Given the description of an element on the screen output the (x, y) to click on. 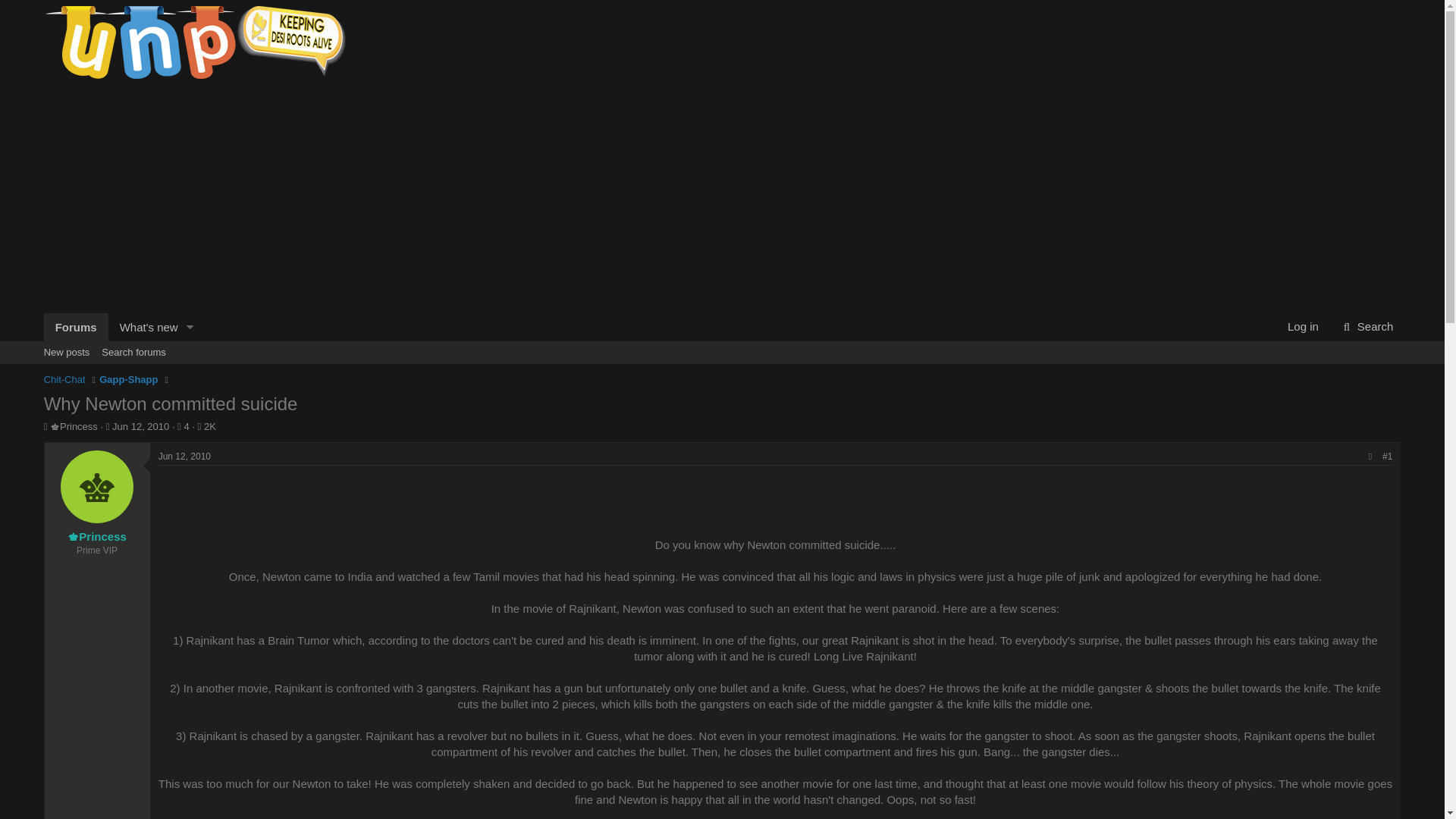
Jun 12, 2010 (184, 456)
What's new (143, 326)
Jun 12, 2010 at 11:36 AM (184, 456)
Search (722, 369)
Views (1366, 326)
Jun 12, 2010 at 11:36 AM (203, 426)
Search forums (140, 426)
Forums (133, 352)
New posts (75, 326)
Advertisement (66, 352)
Jun 12, 2010 (1366, 326)
Log in (140, 426)
Gapp-Shapp (1302, 326)
